Given the description of an element on the screen output the (x, y) to click on. 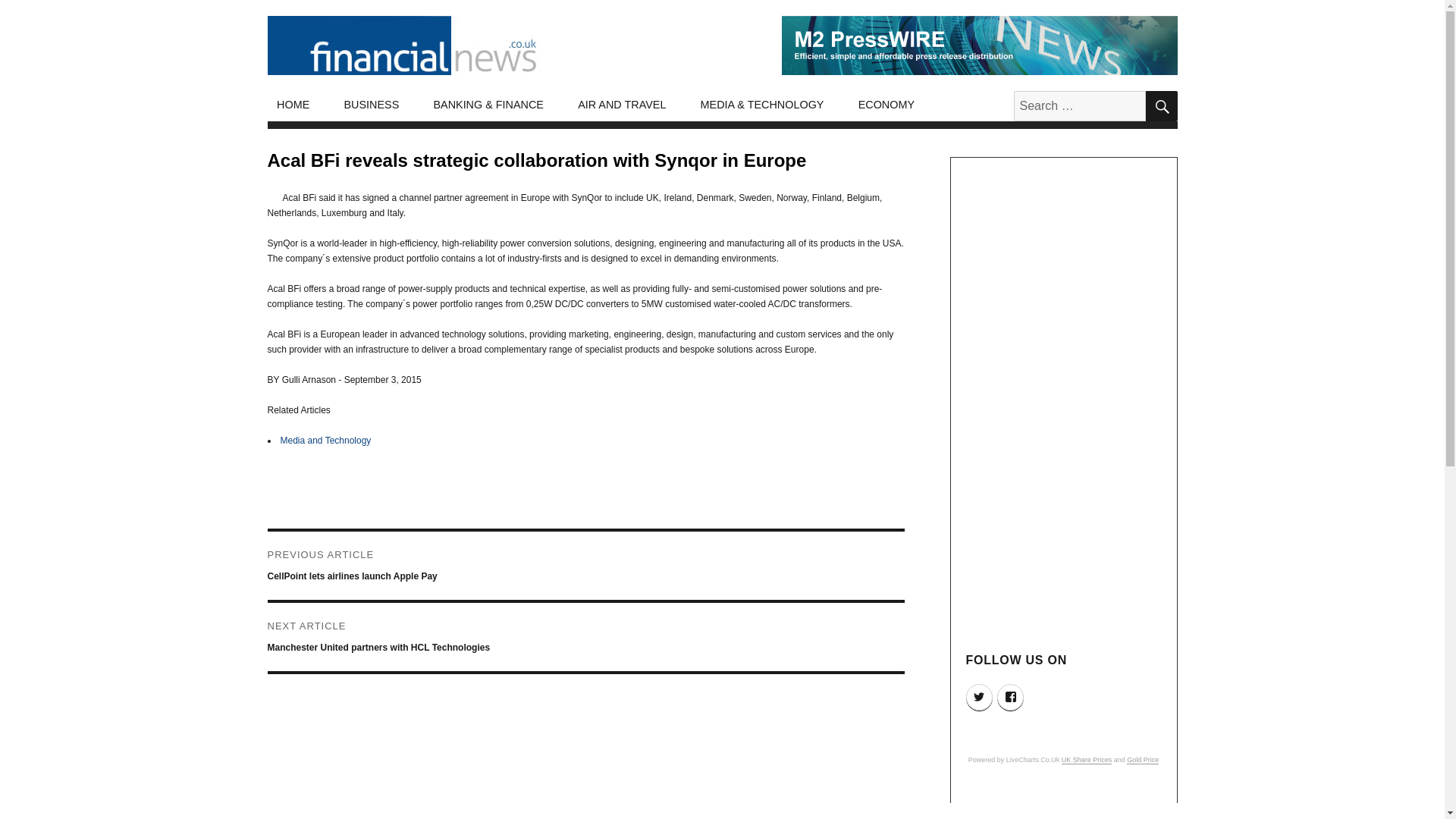
FACEBOOK (1010, 696)
Advertisement (1065, 804)
SEARCH (1160, 105)
TWITTER (979, 696)
Gold Price (1142, 759)
BUSINESS (371, 104)
AIR AND TRAVEL (622, 104)
Media and Technology (326, 439)
